Given the description of an element on the screen output the (x, y) to click on. 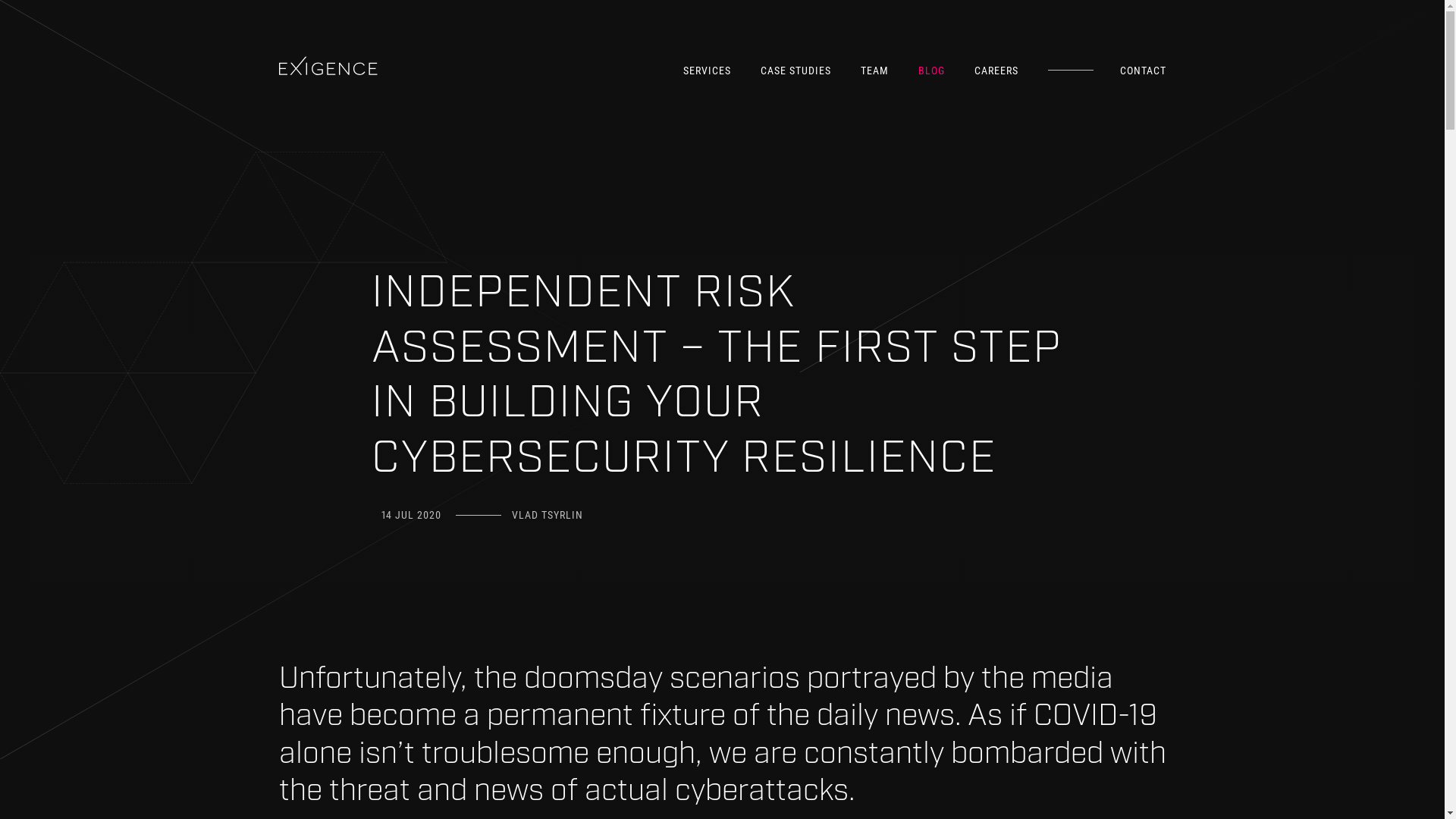
SERVICES Element type: text (706, 70)
TEAM Element type: text (873, 70)
CASE STUDIES Element type: text (794, 70)
CONTACT Element type: text (1142, 70)
CAREERS Element type: text (995, 70)
BLOG Element type: text (930, 70)
